Given the description of an element on the screen output the (x, y) to click on. 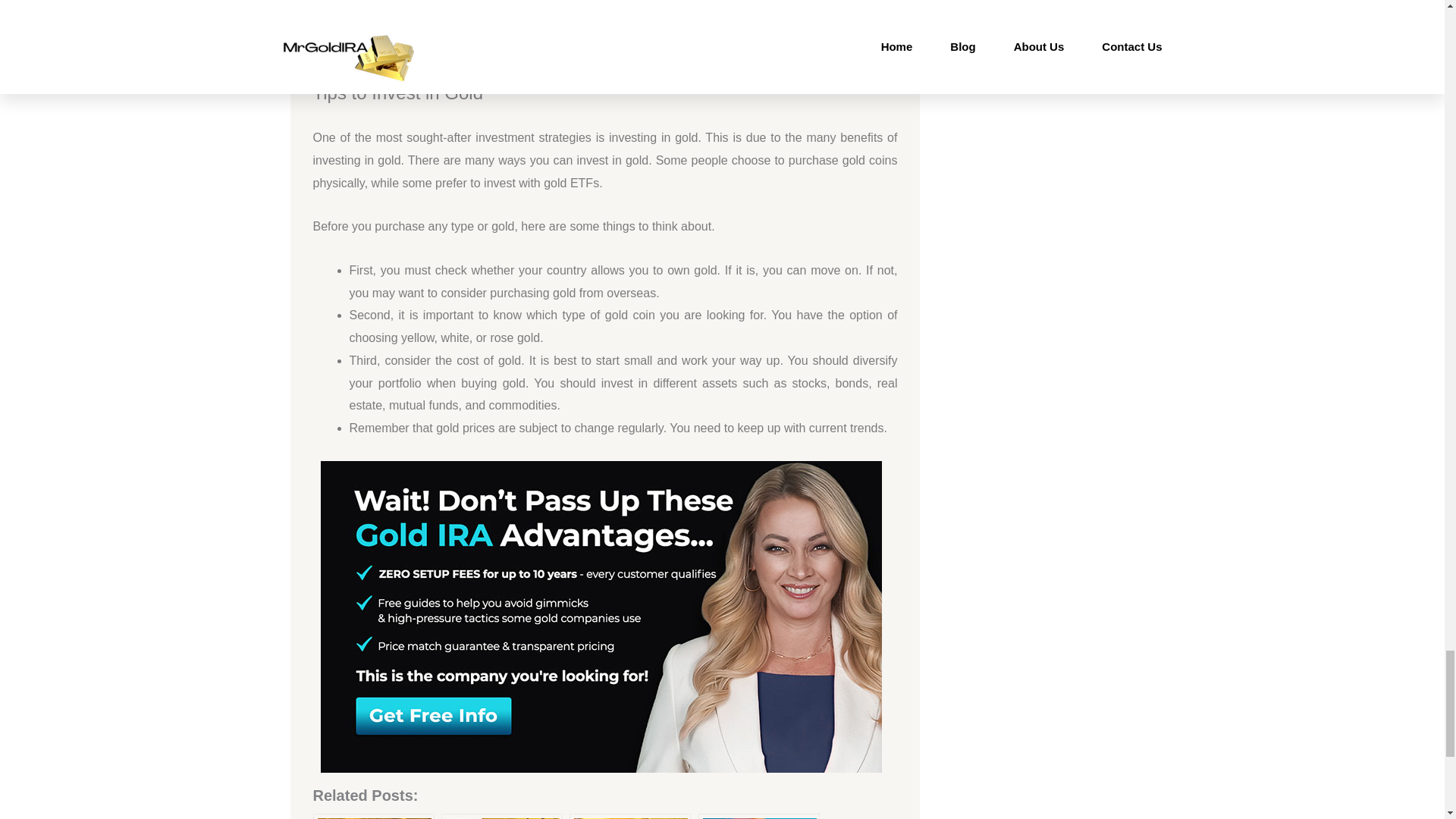
Gold IRA Benefits (758, 816)
How to Evaluate Gold IRA Fees (501, 816)
Review of Goldco Gold IRA (629, 816)
